Given the description of an element on the screen output the (x, y) to click on. 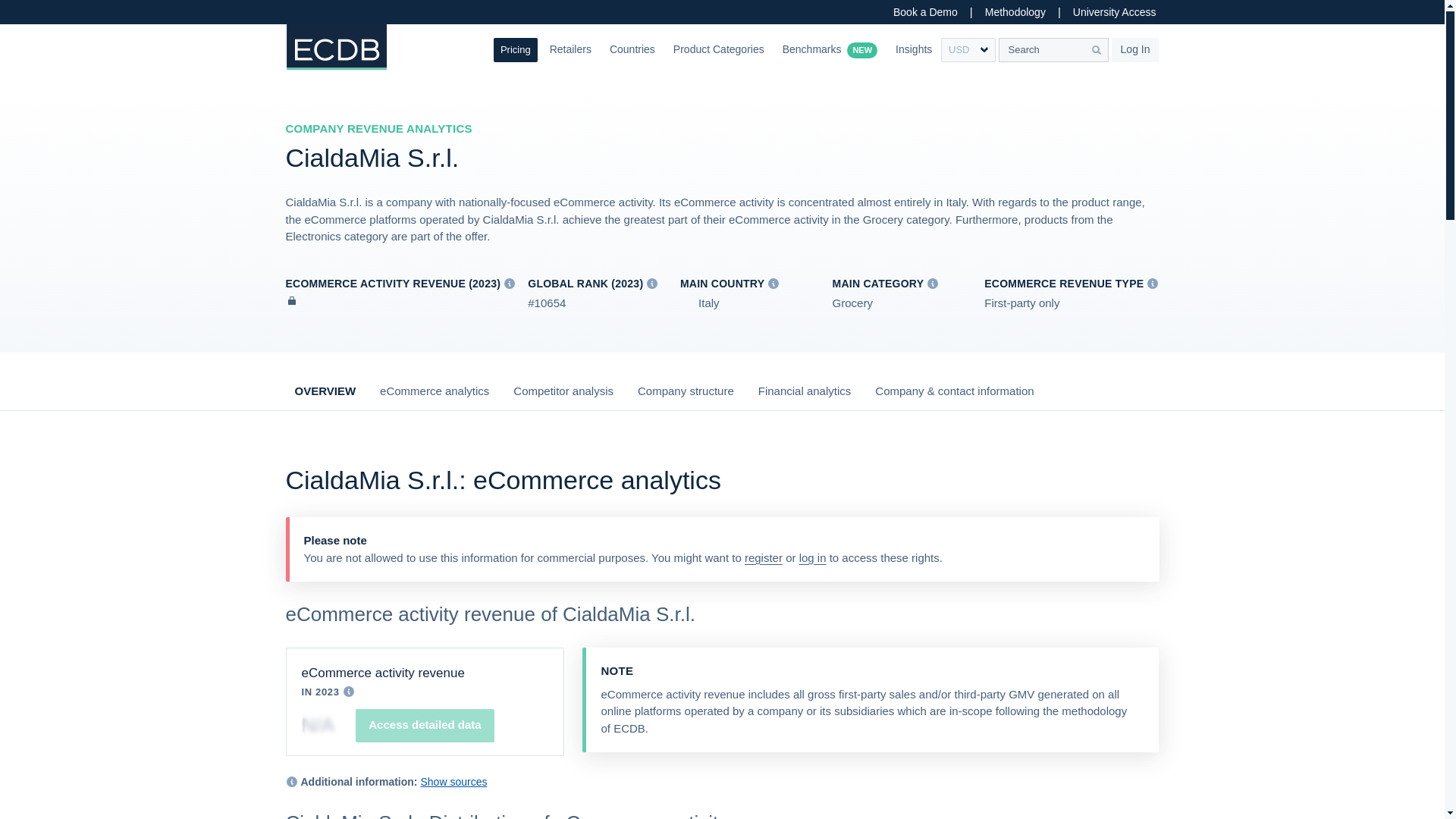
OVERVIEW (324, 397)
eCommerce analytics (434, 397)
Book a Demo (925, 12)
register (763, 556)
Pricing (515, 49)
Competitor analysis (562, 397)
Log In (1135, 49)
University Access (1114, 12)
Italy (699, 302)
Financial analytics (804, 397)
